Given the description of an element on the screen output the (x, y) to click on. 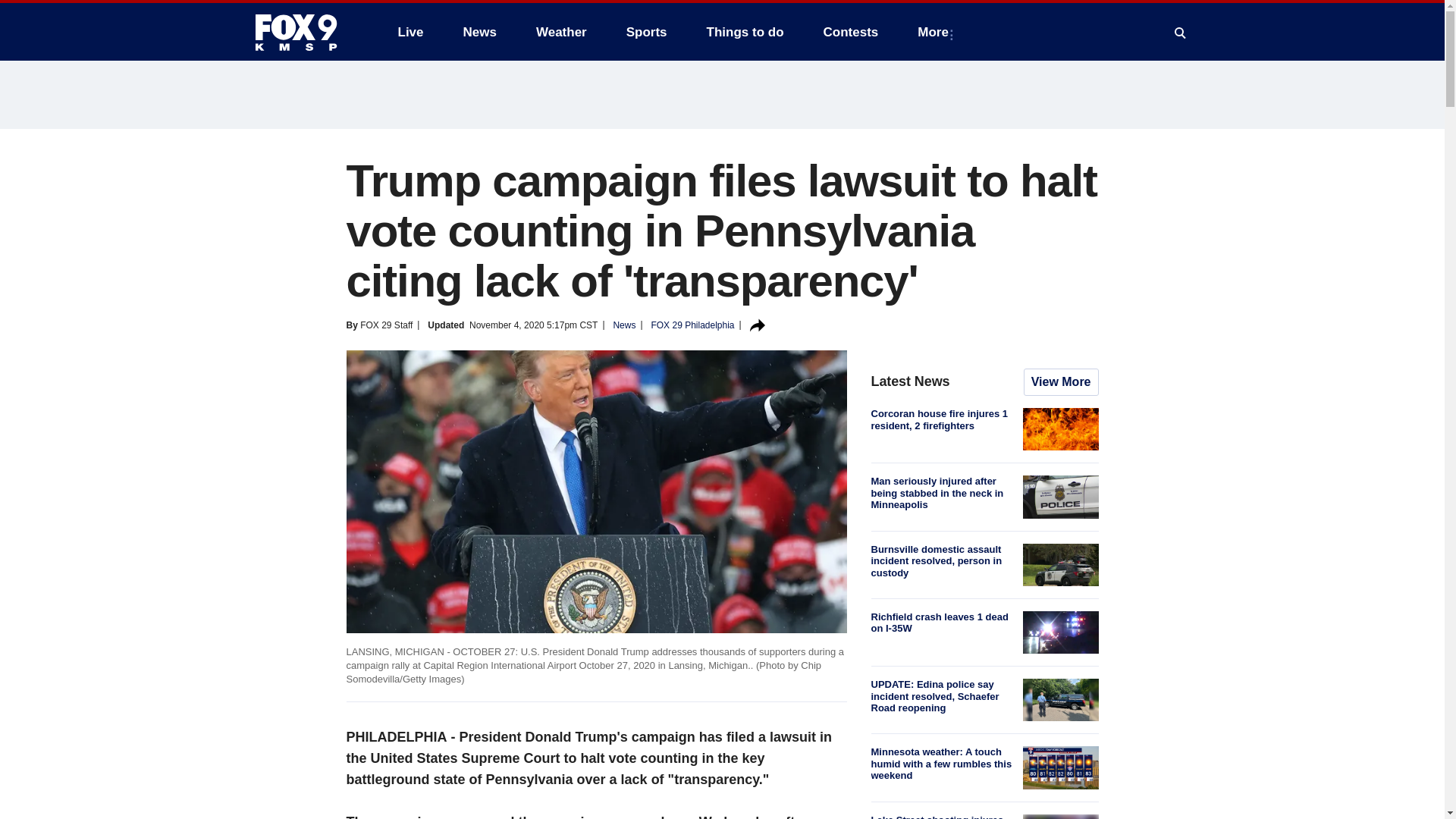
More (935, 32)
Sports (646, 32)
News (479, 32)
Live (410, 32)
Contests (850, 32)
Weather (561, 32)
Things to do (745, 32)
